Given the description of an element on the screen output the (x, y) to click on. 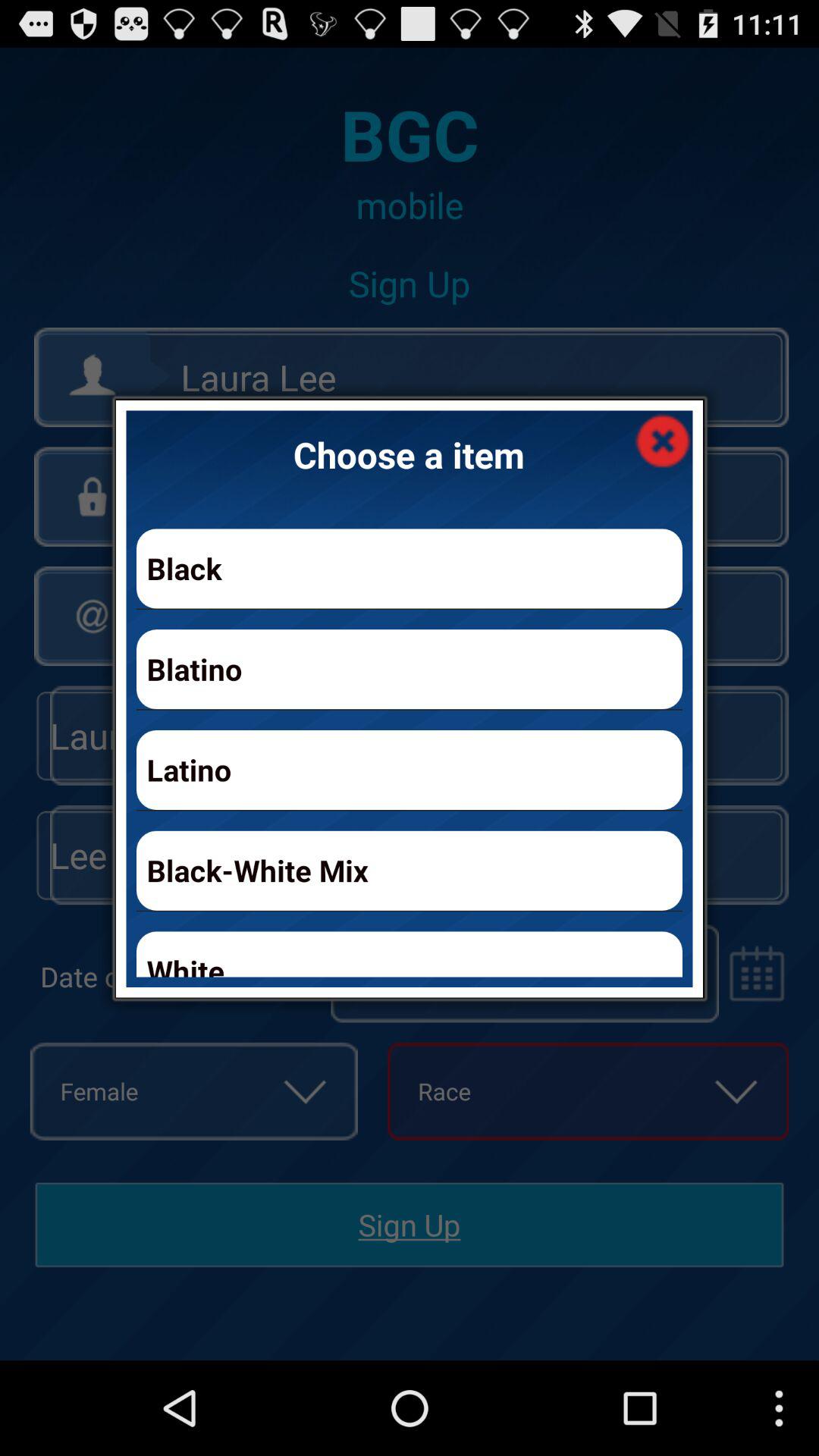
open item below the latino app (409, 870)
